Given the description of an element on the screen output the (x, y) to click on. 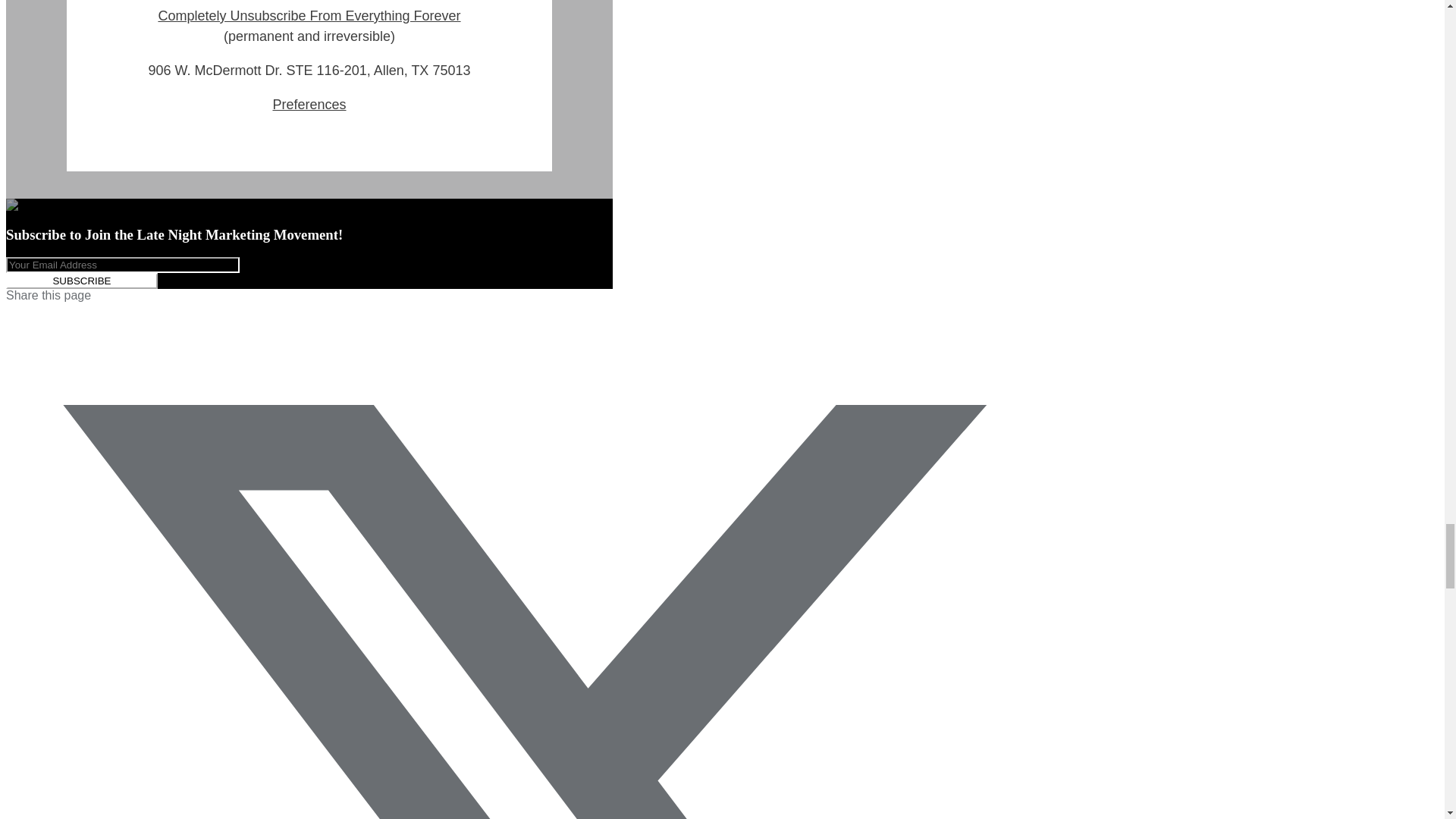
Preferences (309, 104)
SUBSCRIBE (81, 280)
Completely Unsubscribe From Everything Forever (308, 15)
